Given the description of an element on the screen output the (x, y) to click on. 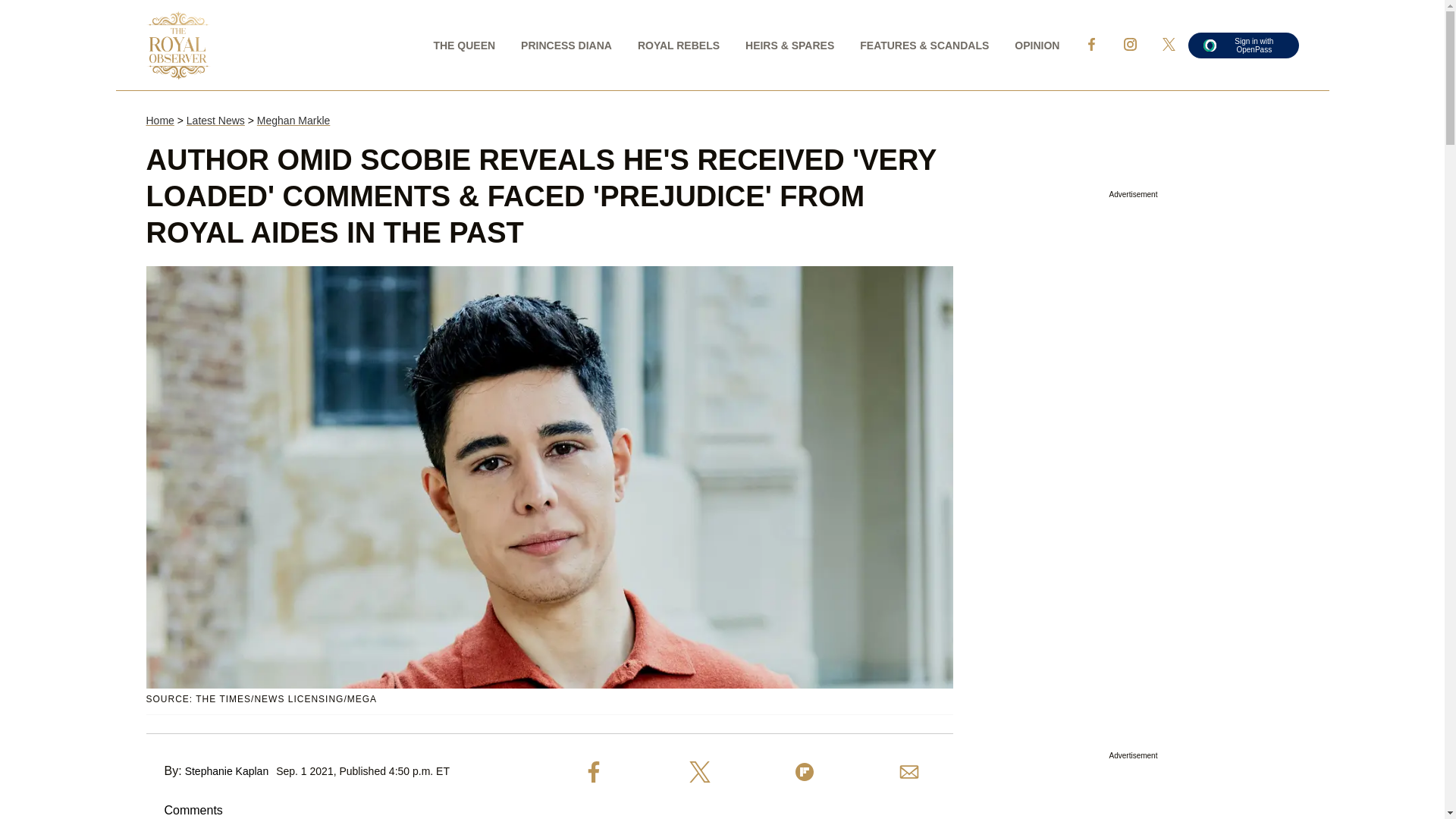
ROYAL REBELS (678, 44)
PRINCESS DIANA (566, 44)
Link to X (1169, 44)
Home (159, 120)
Meghan Markle (293, 120)
Sign in with OpenPass (1243, 44)
Link to Facebook (1090, 44)
Comments (183, 809)
THE QUEEN (464, 44)
Link to Instagram (1130, 44)
OPINION (1036, 44)
LINK TO X (1167, 43)
LINK TO FACEBOOK (1090, 44)
LINK TO INSTAGRAM (1130, 43)
Latest News (215, 120)
